Given the description of an element on the screen output the (x, y) to click on. 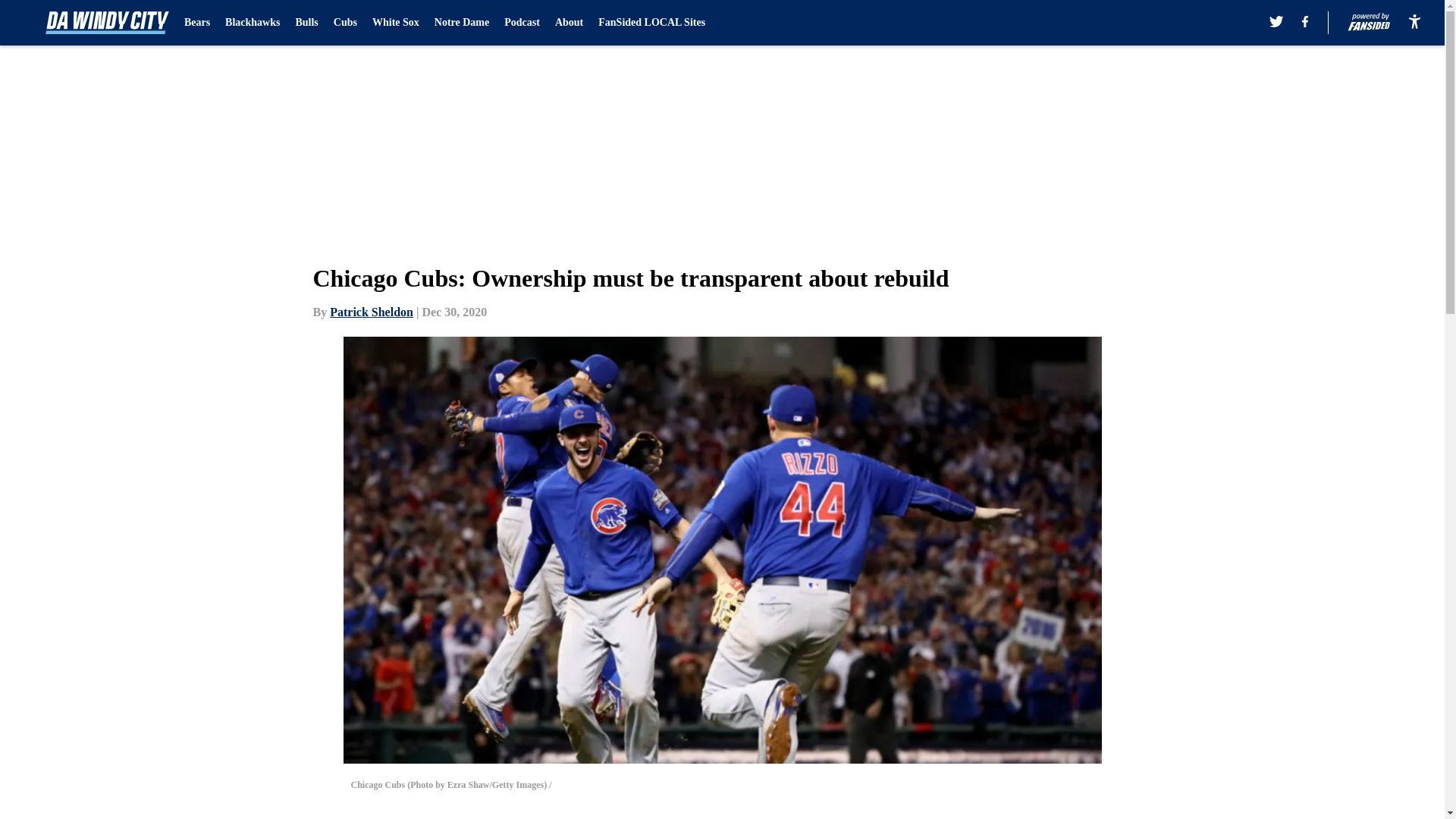
Blackhawks (252, 22)
About (568, 22)
Notre Dame (461, 22)
FanSided LOCAL Sites (651, 22)
Cubs (344, 22)
Bears (196, 22)
Bulls (306, 22)
Patrick Sheldon (371, 311)
White Sox (395, 22)
Podcast (521, 22)
